Given the description of an element on the screen output the (x, y) to click on. 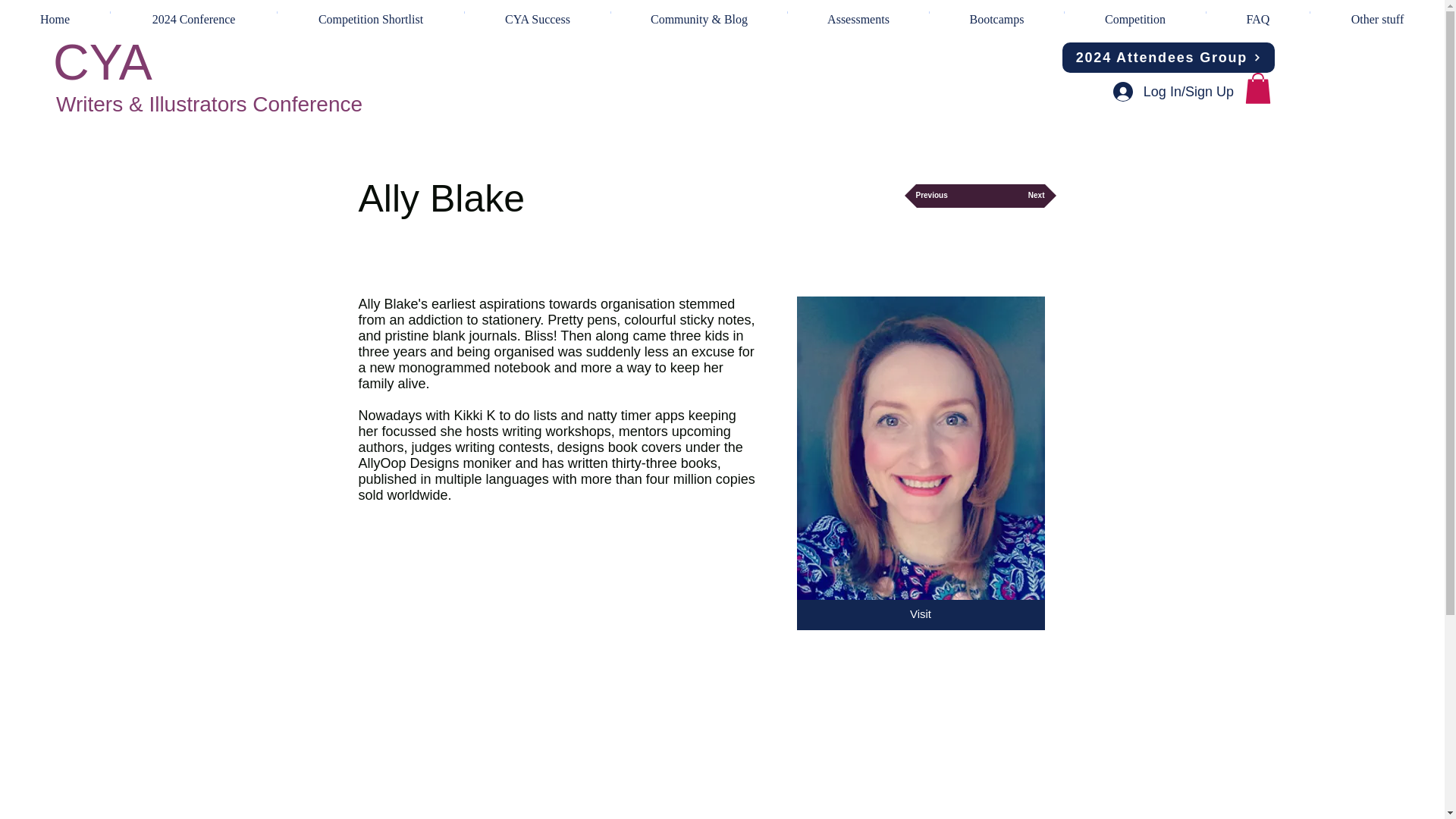
Home (55, 12)
Competition Shortlist (371, 12)
CYA Success (537, 12)
